Given the description of an element on the screen output the (x, y) to click on. 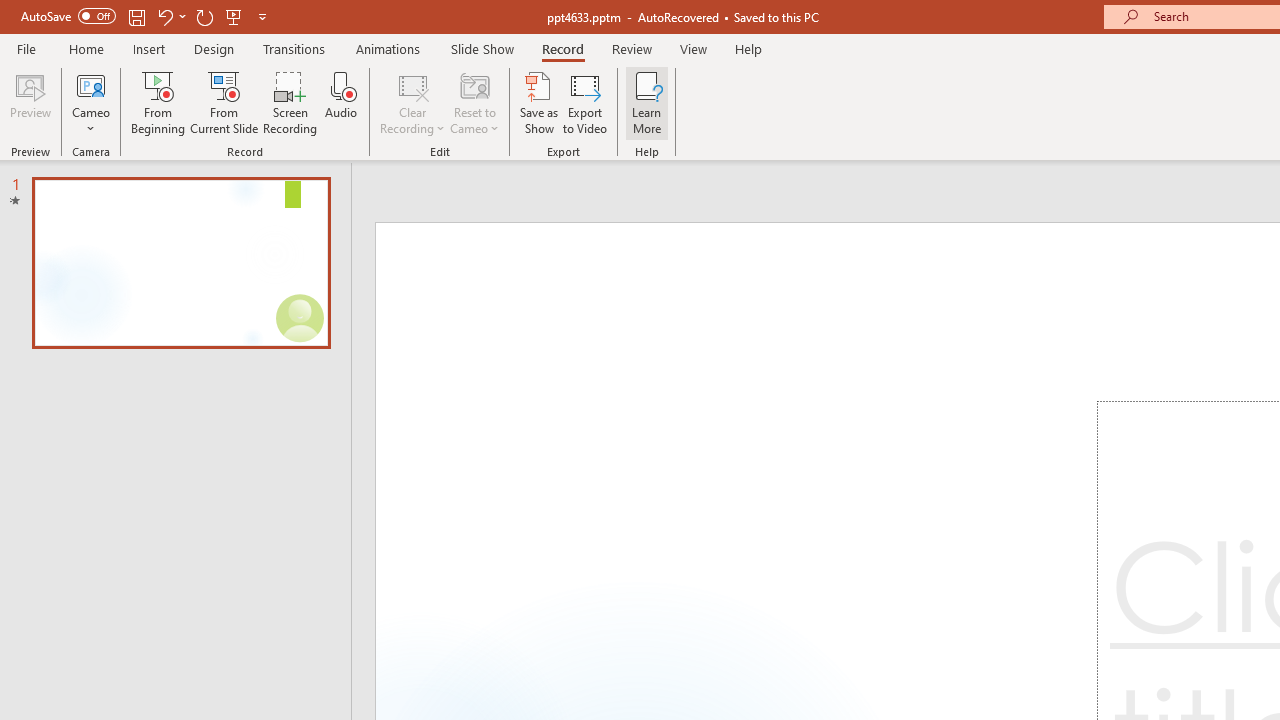
View (693, 48)
Animations (388, 48)
Quick Access Toolbar (145, 16)
Transitions (294, 48)
From Current Slide... (224, 102)
